Given the description of an element on the screen output the (x, y) to click on. 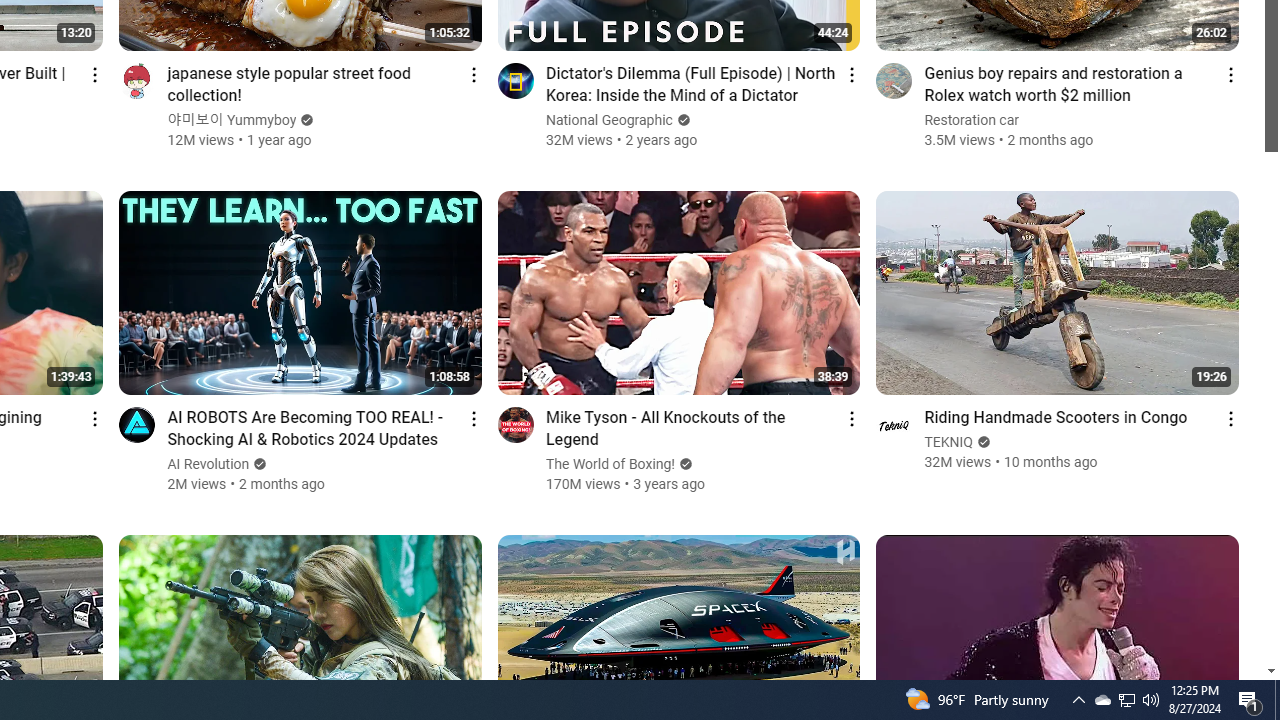
National Geographic (609, 120)
AI Revolution (208, 464)
The World of Boxing! (611, 464)
TEKNIQ (949, 442)
Go to channel (893, 424)
Restoration car (972, 120)
